Given the description of an element on the screen output the (x, y) to click on. 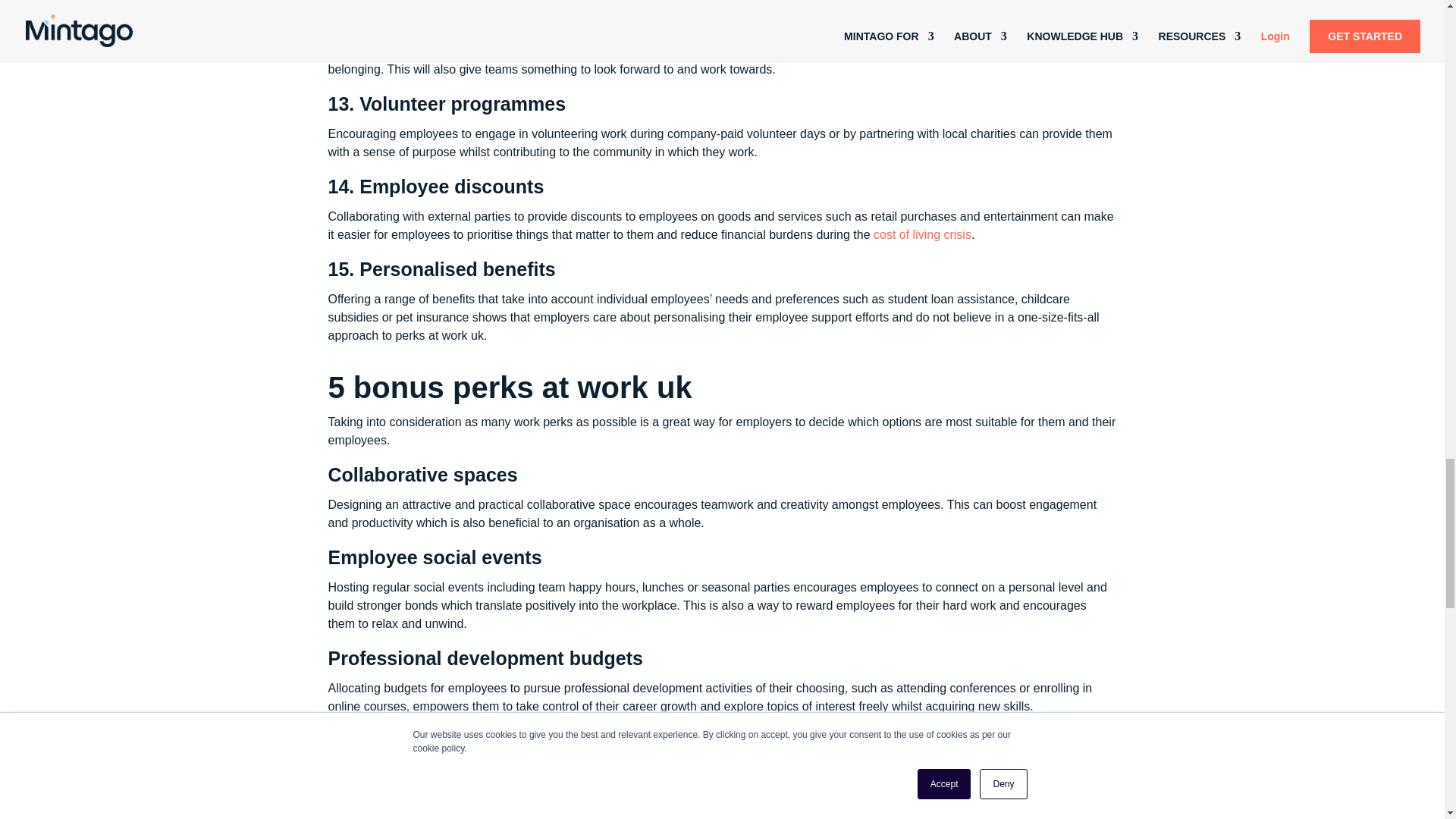
cost of living crisis (922, 234)
